Given the description of an element on the screen output the (x, y) to click on. 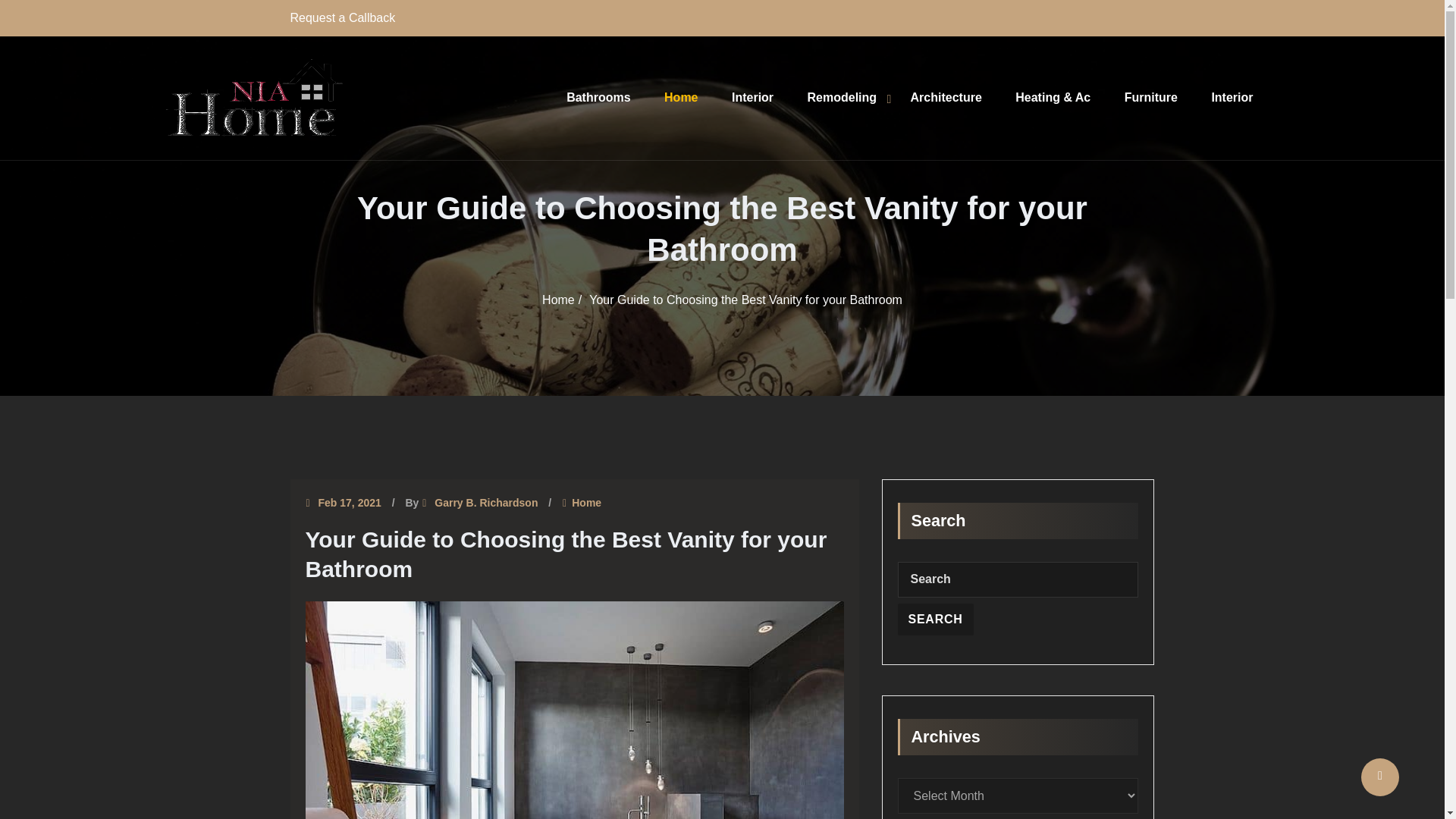
Bathrooms (598, 97)
Interior (752, 97)
Home (558, 299)
Home (586, 502)
Search (936, 619)
Garry B. Richardson (485, 502)
Remodeling (842, 97)
Your Guide to Choosing the Best Vanity for your Bathroom (745, 299)
Home (680, 97)
Feb 17, 2021 (349, 502)
Architecture (946, 97)
Interior (1231, 97)
Furniture (1150, 97)
Search (936, 619)
Search (936, 619)
